Given the description of an element on the screen output the (x, y) to click on. 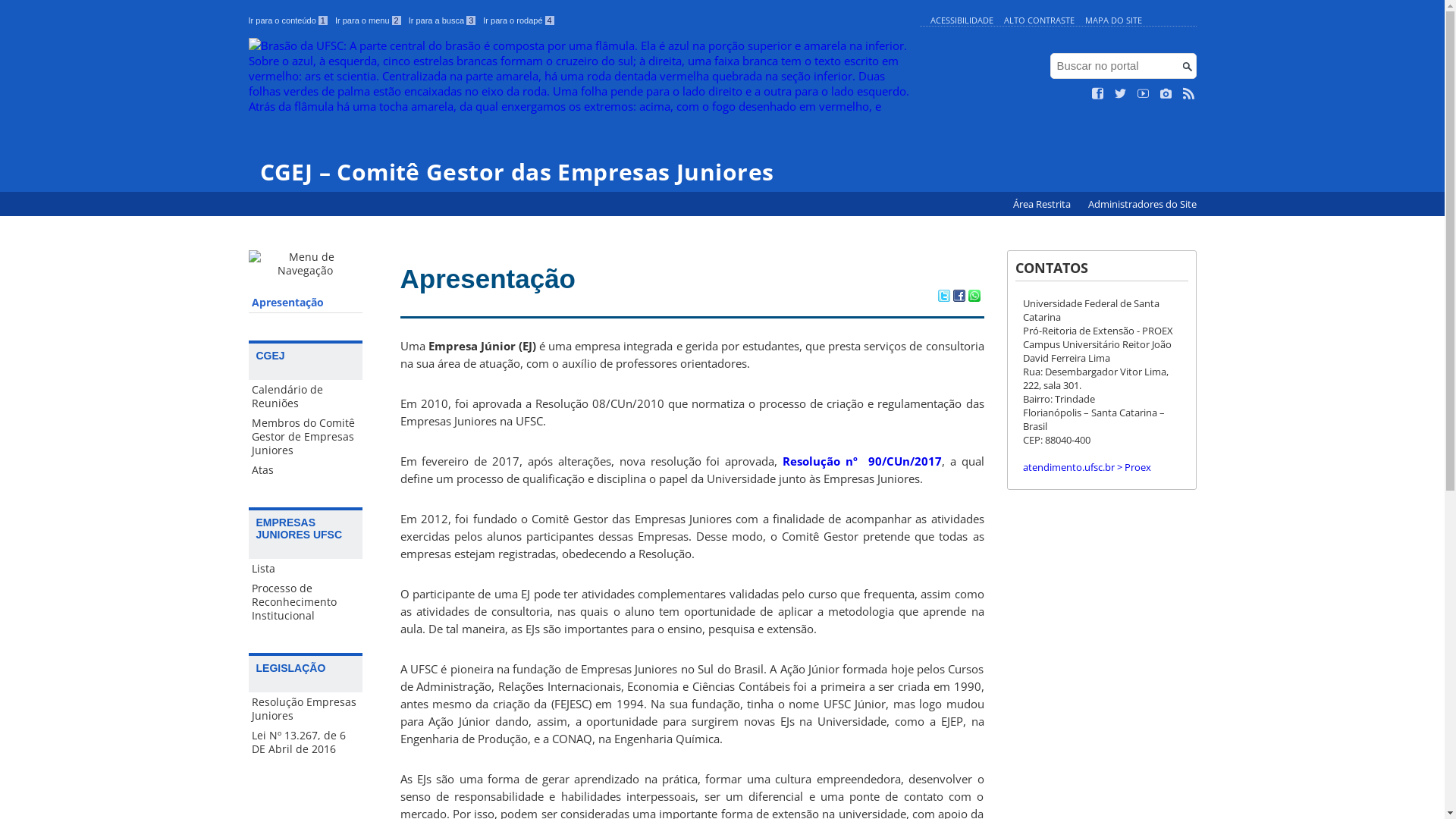
Lista Element type: text (305, 568)
Administradores do Site Element type: text (1141, 203)
Compartilhar no Twitter Element type: hover (943, 296)
MAPA DO SITE Element type: text (1112, 19)
ACESSIBILIDADE Element type: text (960, 19)
Veja no Instagram Element type: hover (1166, 93)
Compartilhar no Facebook Element type: hover (958, 296)
Ir para o menu 2 Element type: text (368, 20)
Siga no Twitter Element type: hover (1120, 93)
Atas Element type: text (305, 470)
Curta no Facebook Element type: hover (1098, 93)
ALTO CONTRASTE Element type: text (1039, 19)
atendimento.ufsc.br > Proex Element type: text (1086, 466)
Ir para a busca 3 Element type: text (442, 20)
Compartilhar no WhatsApp Element type: hover (973, 296)
Processo de Reconhecimento Institucional Element type: text (305, 601)
